Given the description of an element on the screen output the (x, y) to click on. 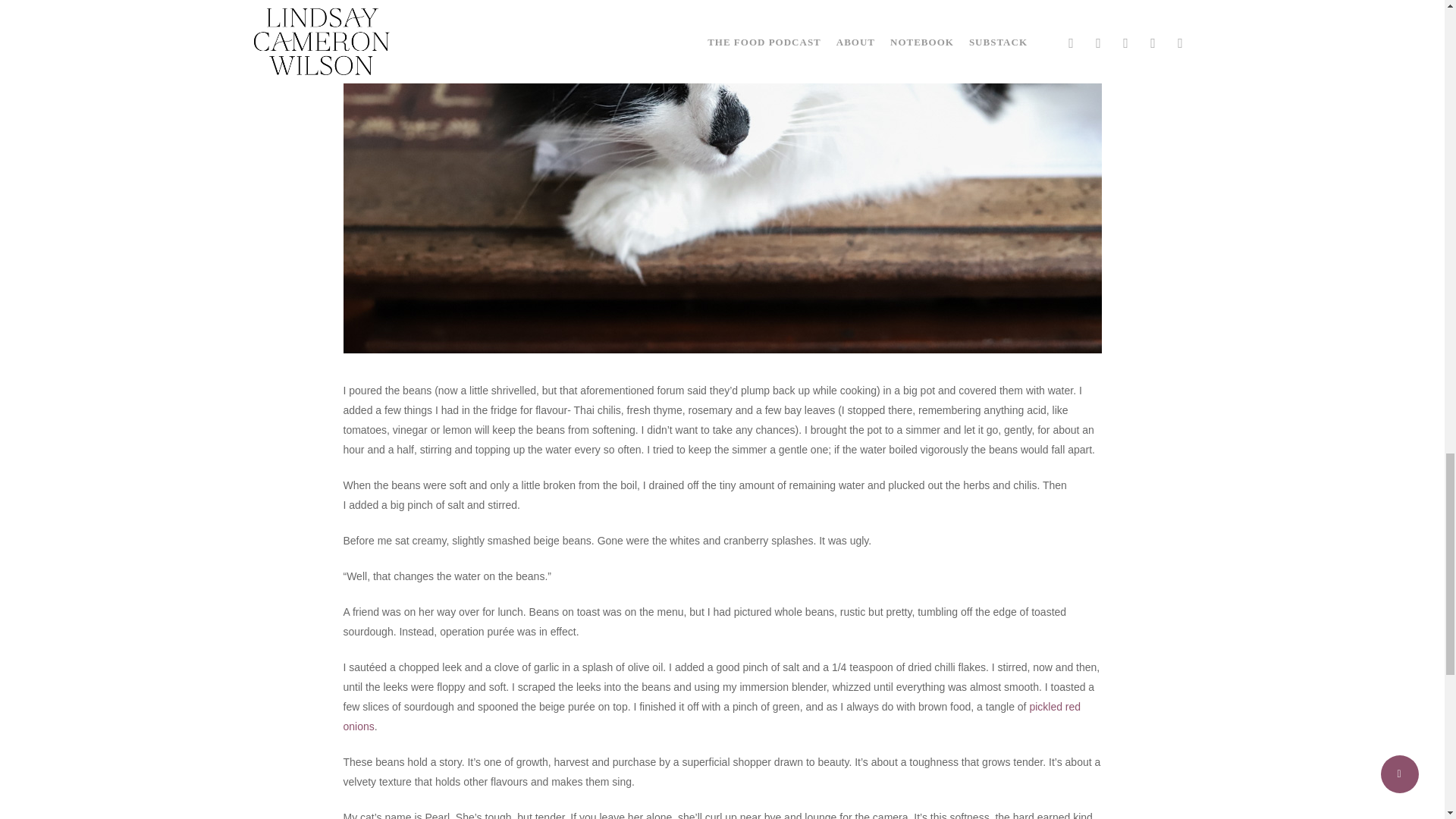
pickled red onions (711, 716)
